Given the description of an element on the screen output the (x, y) to click on. 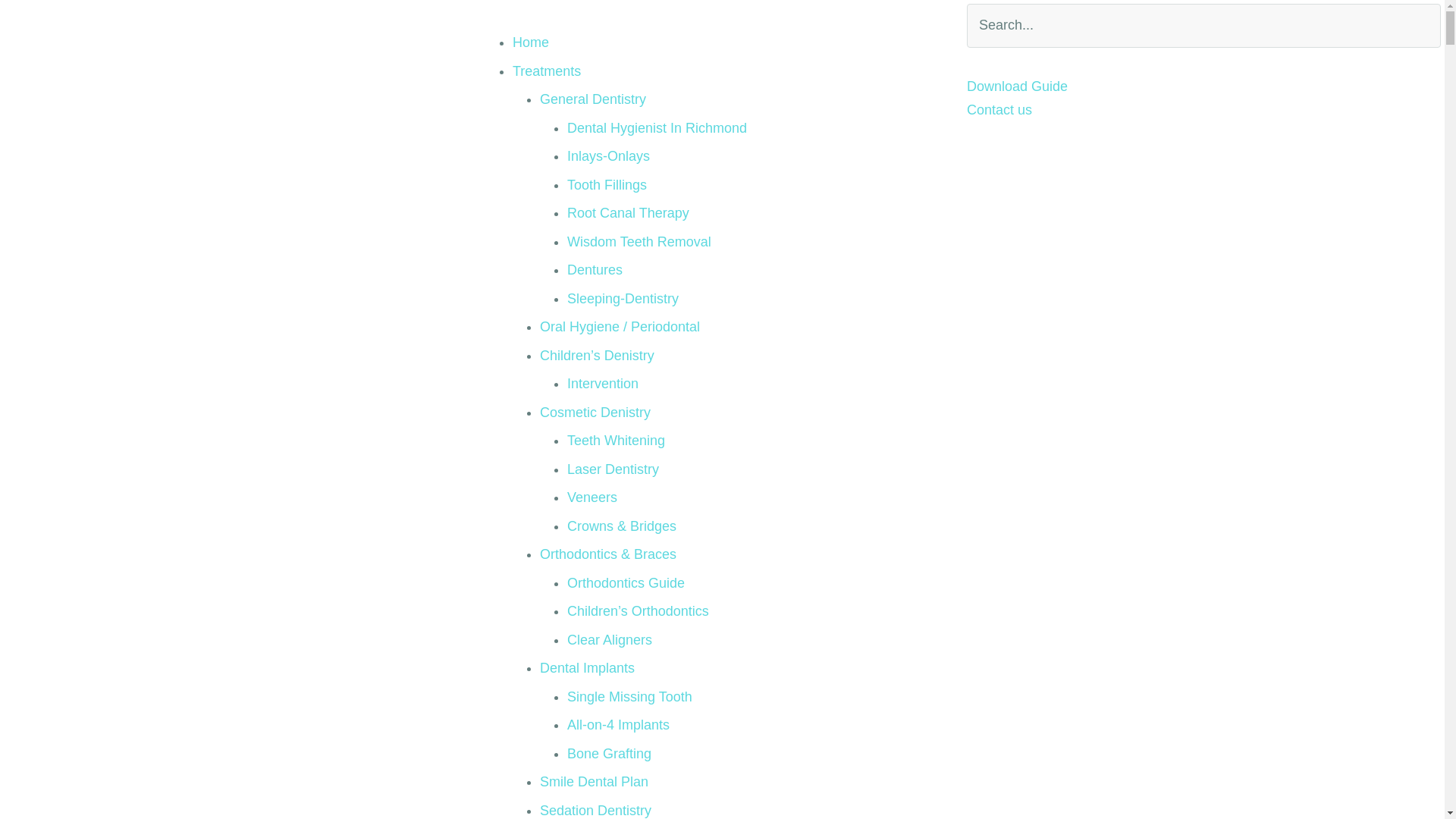
Wisdom Teeth Removal Element type: text (639, 240)
Download Guide Element type: text (1016, 86)
Treatments Element type: text (546, 70)
Teeth Whitening Element type: text (616, 440)
Dental Implants Element type: text (586, 667)
Home Element type: text (530, 42)
Oral Hygiene / Periodontal Element type: text (619, 326)
Dentures Element type: text (594, 269)
Crowns & Bridges Element type: text (621, 525)
Single Missing Tooth Element type: text (629, 695)
Sleeping-Dentistry Element type: text (622, 298)
Bone Grafting Element type: text (609, 753)
Contact us Element type: text (999, 109)
Intervention Element type: text (602, 383)
Clear Aligners Element type: text (609, 639)
Smile Dental Plan Element type: text (593, 781)
Veneers Element type: text (592, 497)
All-on-4 Implants Element type: text (618, 724)
General Dentistry Element type: text (592, 98)
Orthodontics Guide Element type: text (625, 581)
Root Canal Therapy Element type: text (628, 212)
Inlays-Onlays Element type: text (608, 155)
Orthodontics & Braces Element type: text (607, 553)
Sedation Dentistry Element type: text (595, 809)
Laser Dentistry Element type: text (612, 468)
Cosmetic Denistry Element type: text (594, 412)
Dental Hygienist In Richmond Element type: text (656, 126)
Tooth Fillings Element type: text (606, 184)
